Given the description of an element on the screen output the (x, y) to click on. 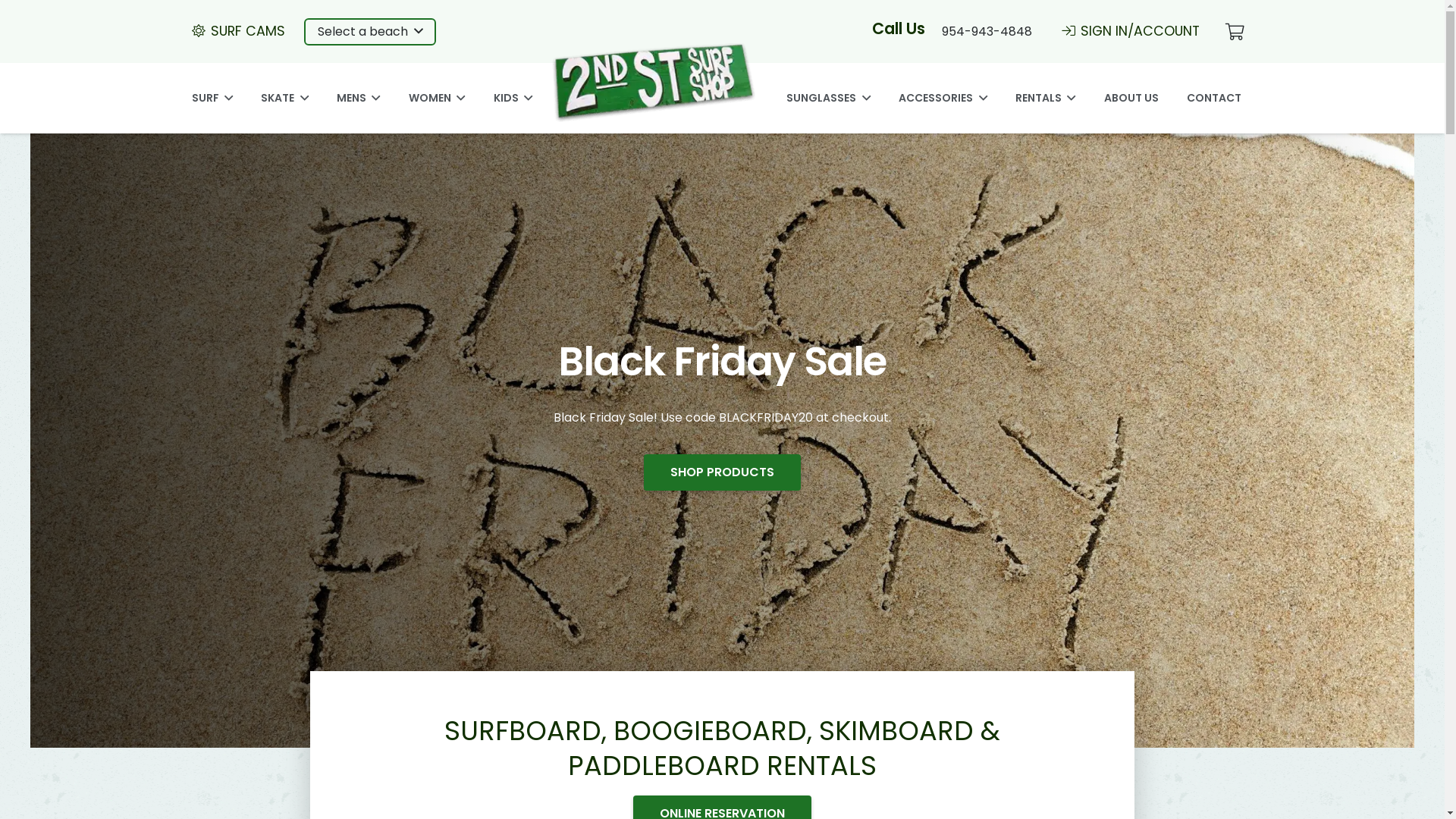
MENS Element type: text (358, 97)
SURF Element type: text (212, 97)
Select a beach Element type: text (369, 31)
ABOUT US Element type: text (1131, 97)
SHOP PRODUCTS Element type: text (721, 472)
RENTALS Element type: text (1045, 97)
KIDS Element type: text (512, 97)
CONTACT Element type: text (1213, 97)
SKATE Element type: text (284, 97)
WOMEN Element type: text (436, 97)
SIGN IN/ACCOUNT Element type: text (1130, 30)
ACCESSORIES Element type: text (942, 97)
SUNGLASSES Element type: text (828, 97)
954-943-4848 Element type: text (986, 31)
